Given the description of an element on the screen output the (x, y) to click on. 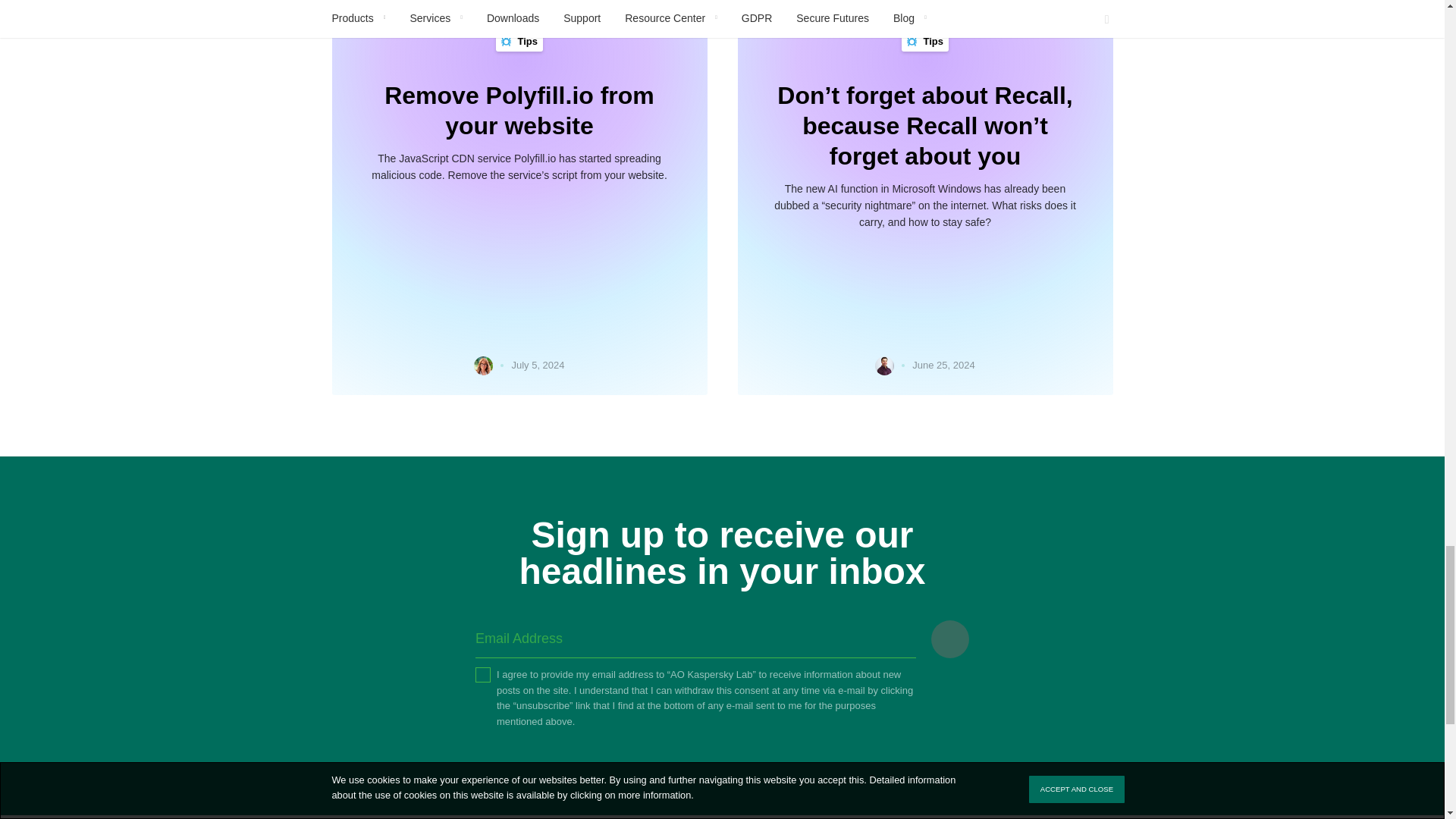
Sign me Up (950, 638)
